Given the description of an element on the screen output the (x, y) to click on. 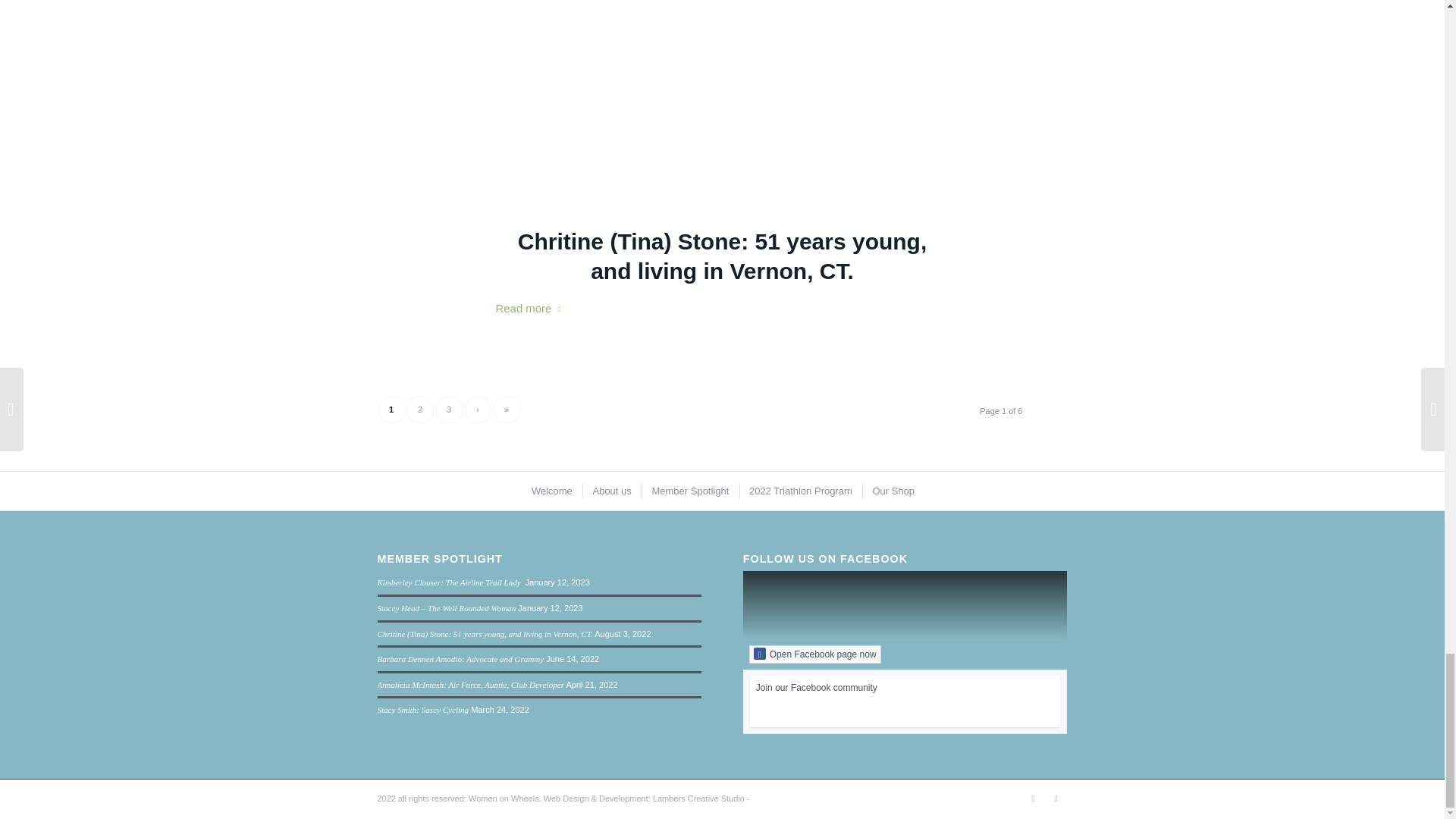
Annalicia McIntosh: Air Force, Auntie, Club Developer (470, 684)
3 (448, 409)
About us (610, 490)
Our Shop (891, 490)
Barbara Dennen Amodio: Advocate and Grammy (460, 658)
Welcome (550, 490)
Kimberley Clouser: The Airline Trail Lady  (449, 582)
Stacy Smith: Sascy Cycling (422, 709)
2022 Triathlon Program (799, 490)
Read more (531, 308)
Member Spotlight (689, 490)
2 (419, 409)
